Given the description of an element on the screen output the (x, y) to click on. 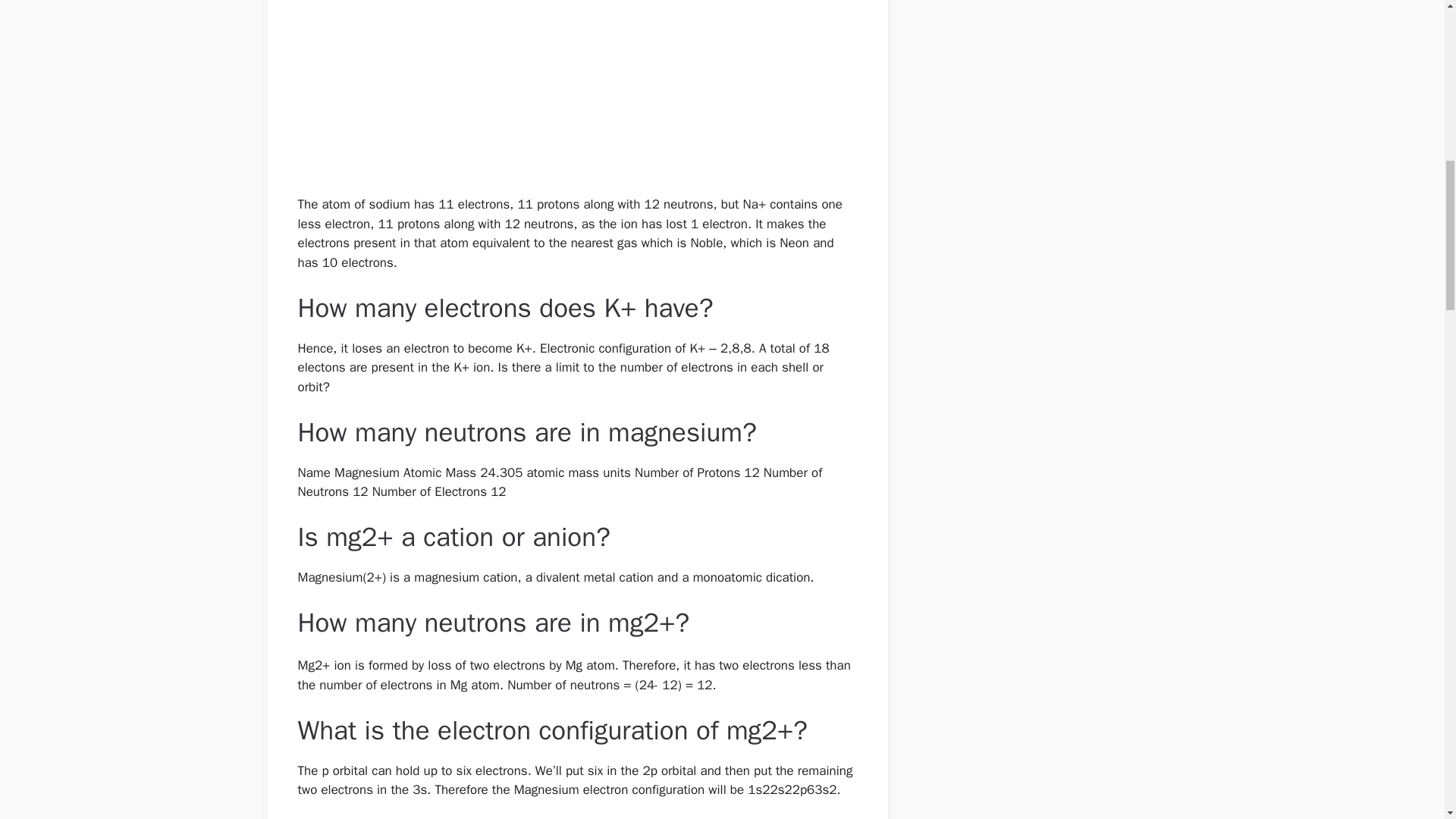
Advertisement (569, 96)
